Given the description of an element on the screen output the (x, y) to click on. 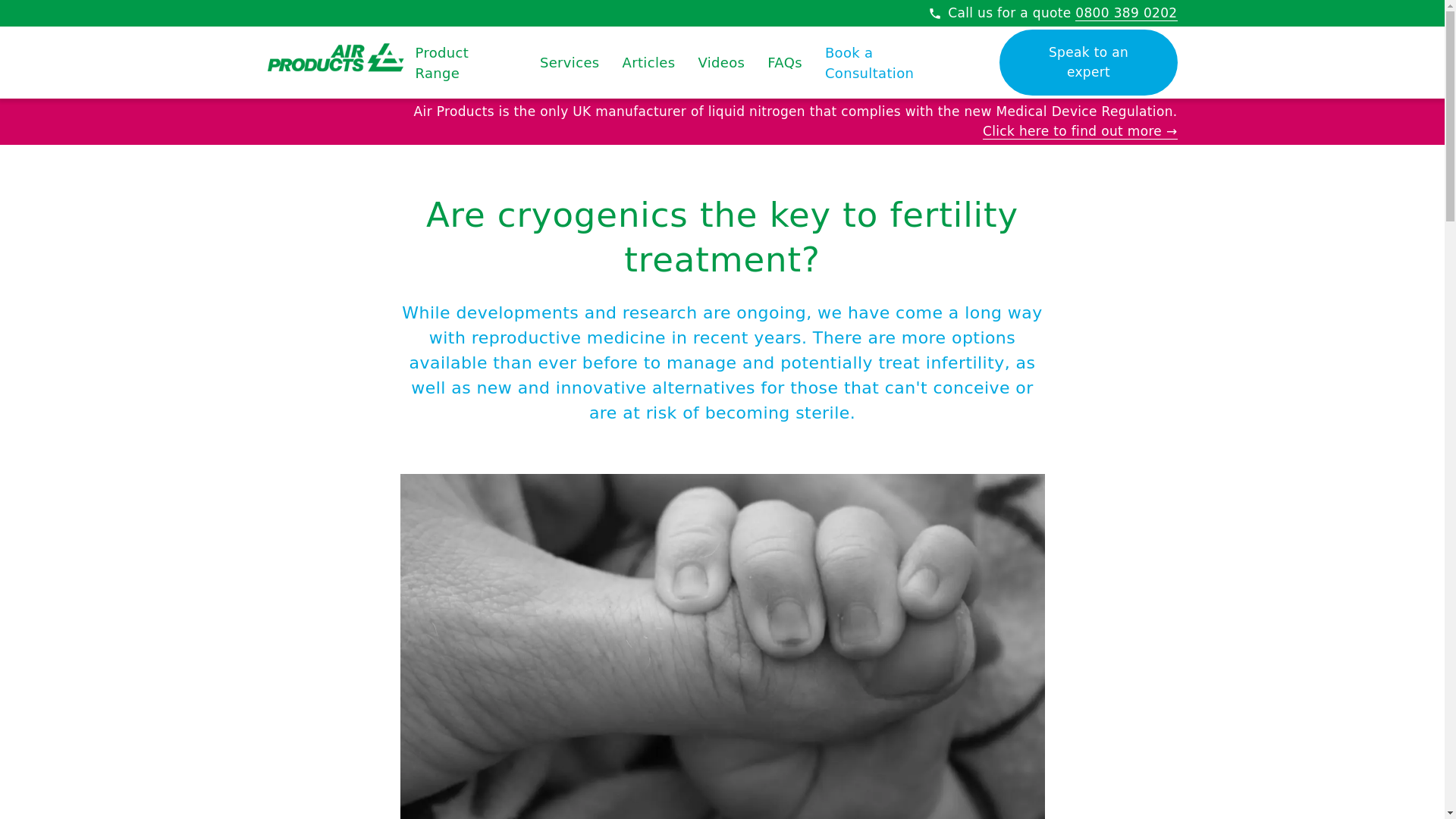
Book a Consultation (895, 62)
Product Range (465, 62)
Speak to an expert (1087, 62)
Air Products (334, 59)
0800 389 0202 (1125, 12)
